Given the description of an element on the screen output the (x, y) to click on. 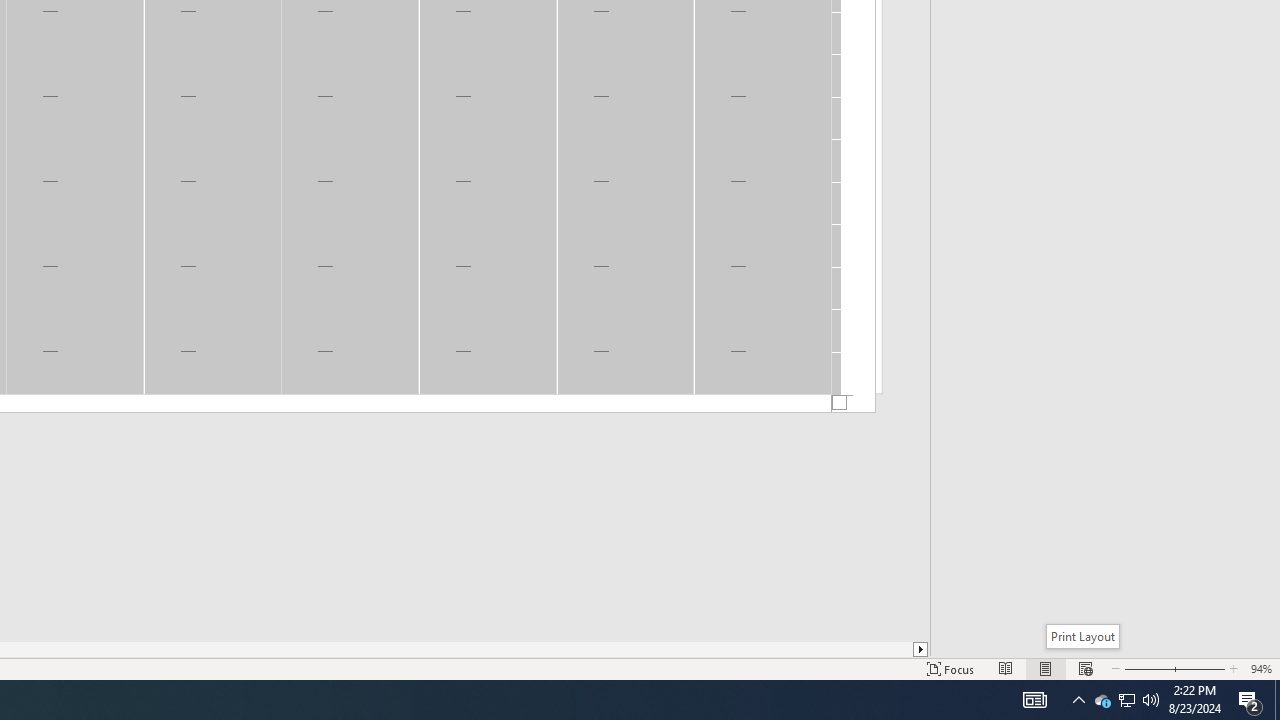
Column right (921, 649)
